Given the description of an element on the screen output the (x, y) to click on. 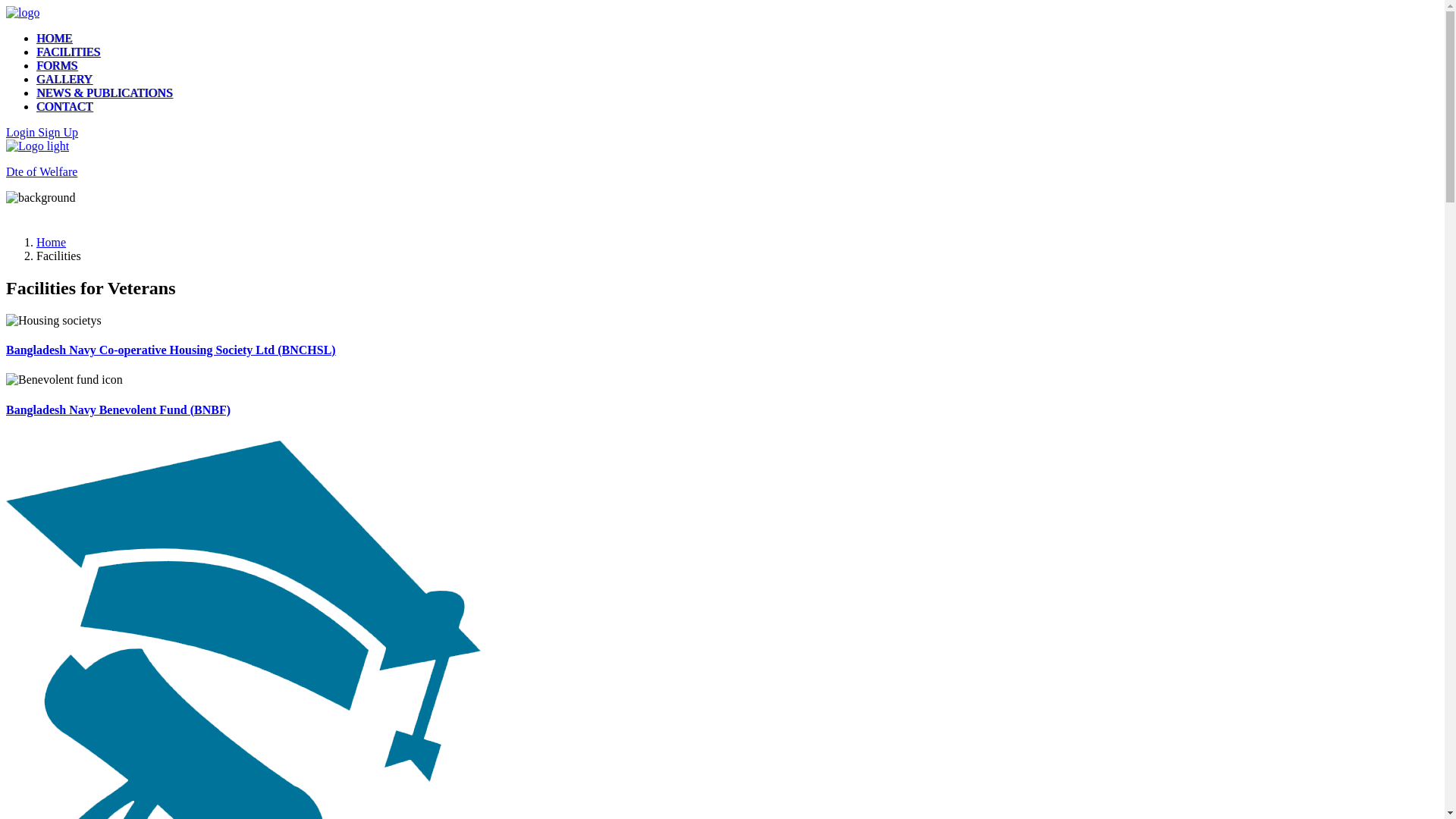
Sign Up Element type: text (57, 131)
Dte of Welfare Element type: text (722, 158)
Bangladesh Navy Benevolent Fund (BNBF) Element type: text (118, 409)
NEWS & PUBLICATIONS Element type: text (104, 92)
Home Element type: text (50, 241)
Bangladesh Navy Co-operative Housing Society Ltd (BNCHSL) Element type: text (170, 349)
FACILITIES Element type: text (68, 51)
HOME Element type: text (54, 37)
GALLERY Element type: text (64, 78)
Login Element type: text (21, 131)
CONTACT Element type: text (64, 106)
FORMS Element type: text (56, 65)
